Given the description of an element on the screen output the (x, y) to click on. 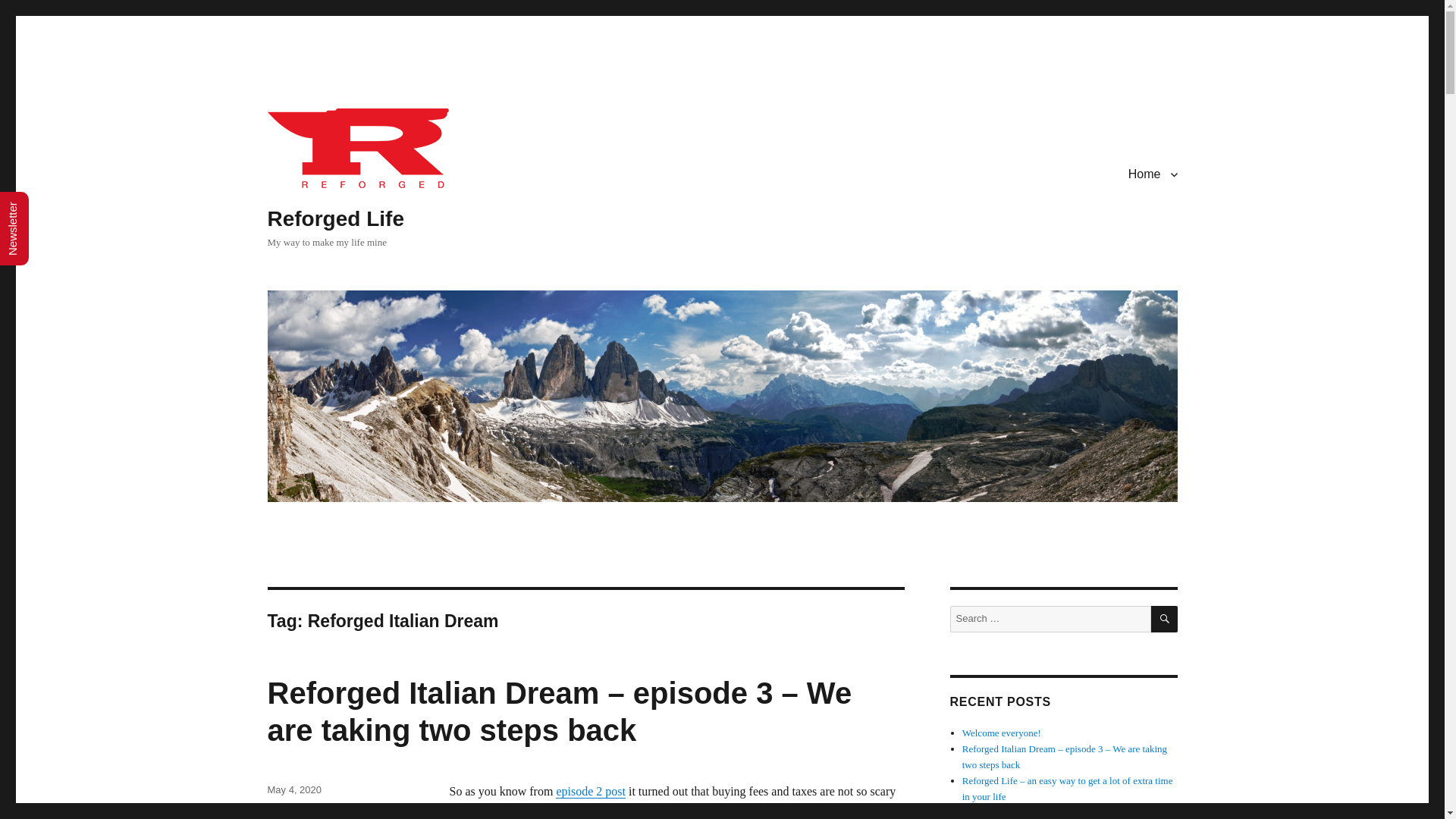
episode 2 post (591, 790)
Reforged Life (334, 218)
May 4, 2020 (293, 789)
Home (1153, 174)
Posts (279, 810)
